Given the description of an element on the screen output the (x, y) to click on. 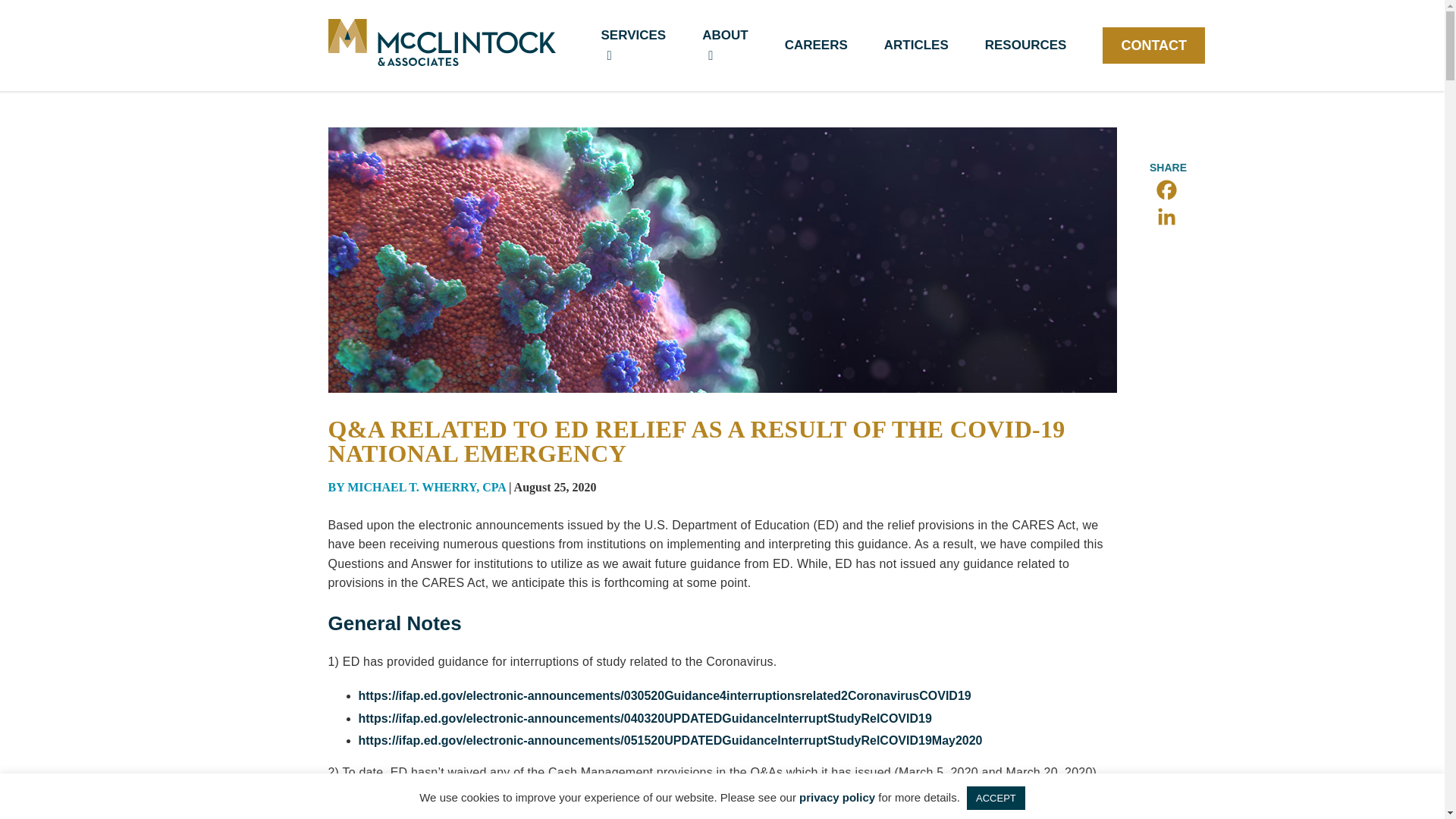
OUR PEOPLE (620, 43)
SERVICES (632, 45)
OUR CULTURE (840, 43)
Facebook (1166, 189)
RESOURCES (1026, 45)
student Title IV credit balances (720, 802)
Financial Statement Audits (364, 631)
BY MICHAEL T. WHERRY, CPA (417, 486)
OUR VALUES (1056, 43)
CAREERS (815, 45)
ABOUT (724, 45)
Title IV Compliance Audits (363, 612)
TITLE IV CONSULTING (534, 52)
TAX SERVICES (1052, 52)
OUR COMPANY (397, 43)
